Given the description of an element on the screen output the (x, y) to click on. 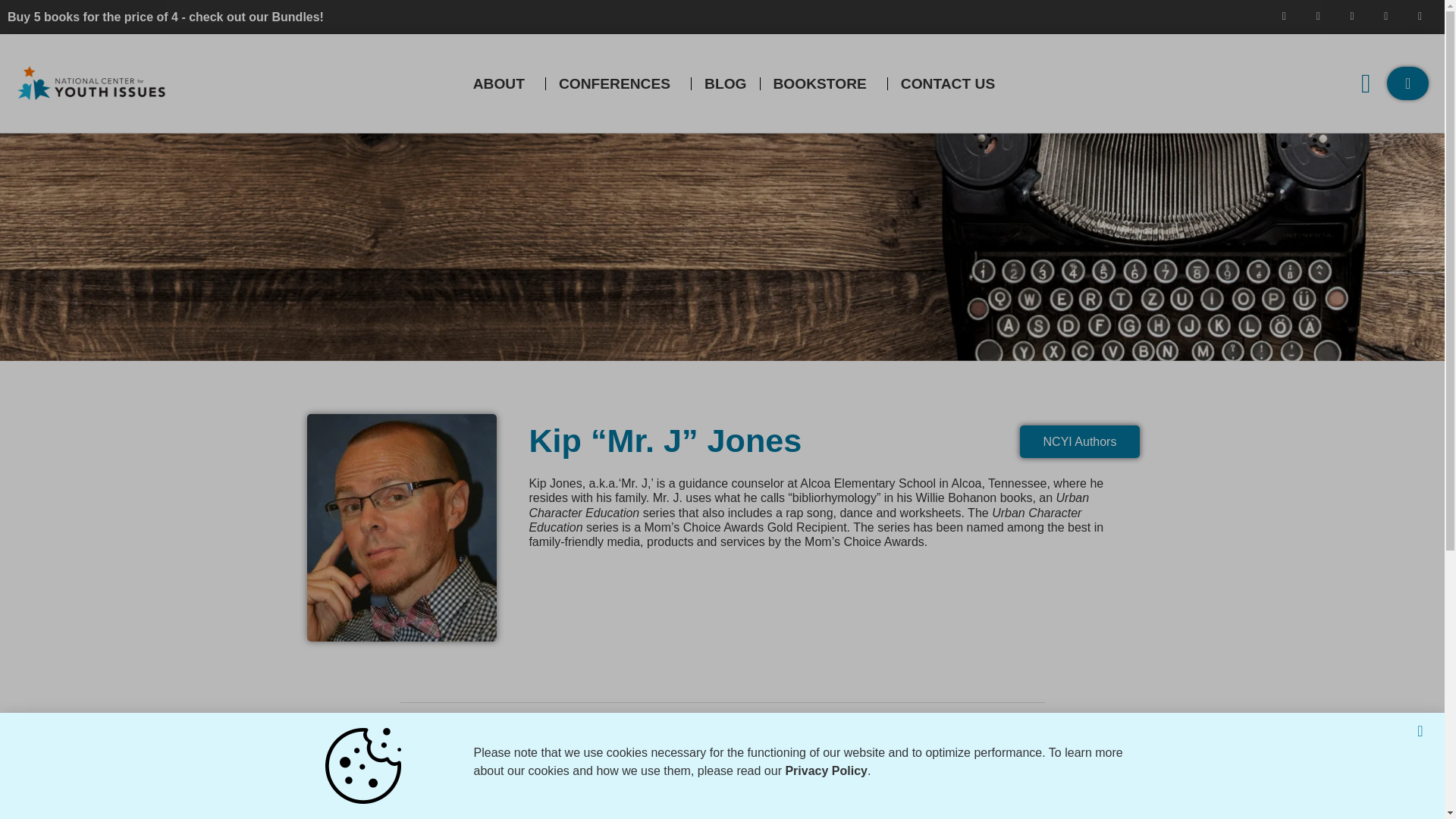
BOOKSTORE (823, 83)
ABOUT (502, 83)
BLOG (724, 83)
CONTACT US (951, 83)
Buy 5 books for the price of 4 - check out our Bundles! (165, 16)
CONFERENCES (618, 83)
